Given the description of an element on the screen output the (x, y) to click on. 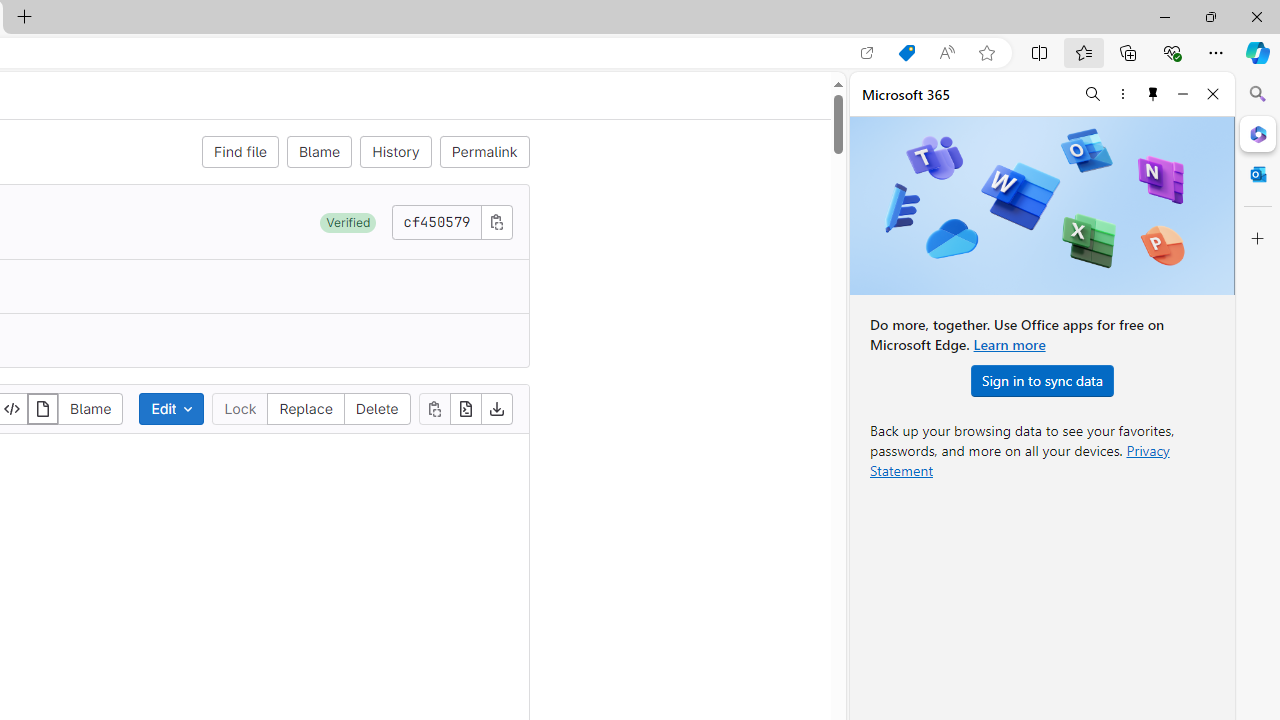
Find file (240, 151)
Edit (171, 408)
History (395, 151)
Display rendered file (43, 408)
Download (496, 408)
Privacy Statement (1019, 460)
